Given the description of an element on the screen output the (x, y) to click on. 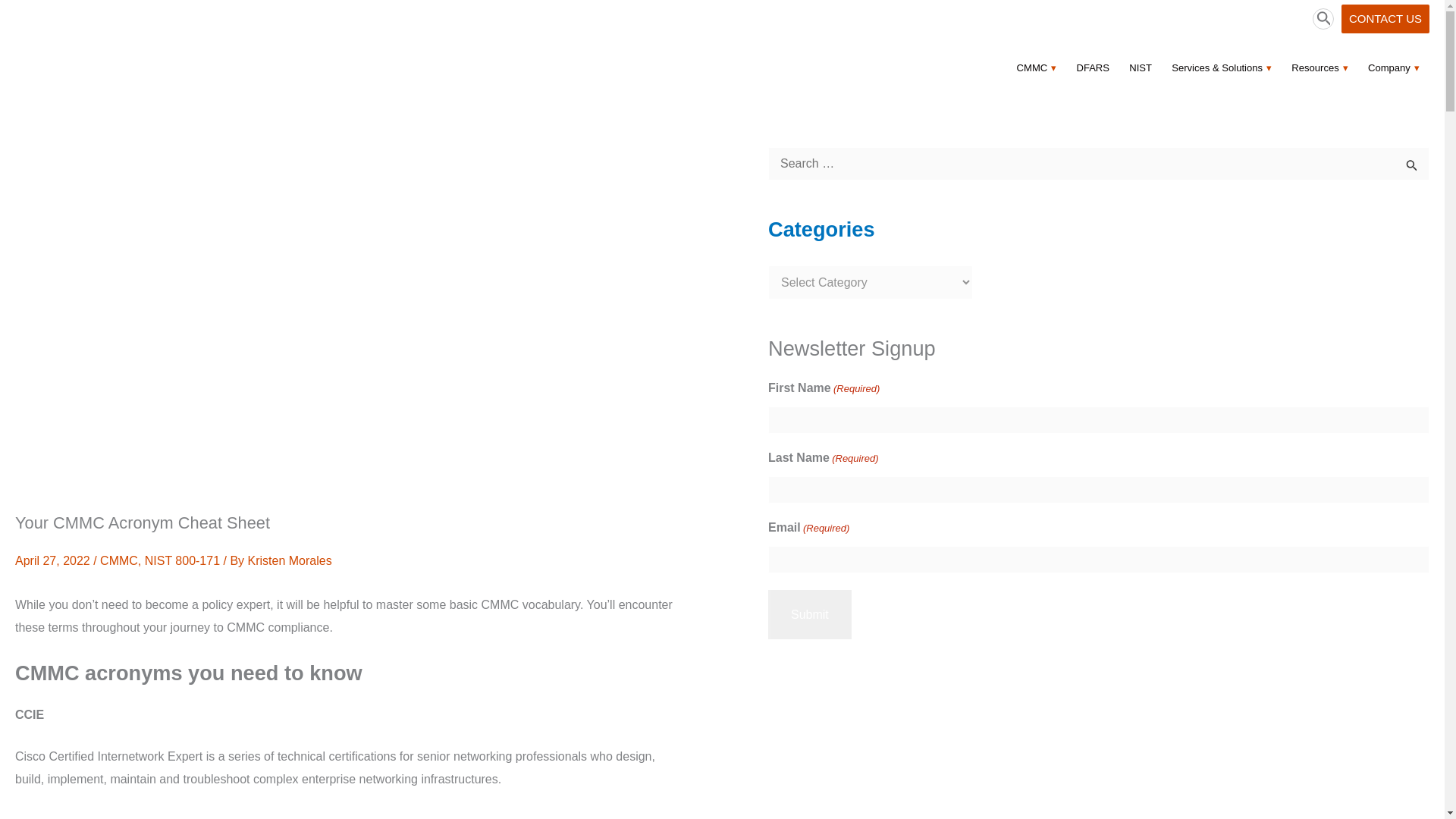
Submit (809, 614)
CMMC (1037, 67)
CONTACT US (1384, 18)
View all posts by Kristen Morales (289, 560)
Company (1393, 67)
Resources (1319, 67)
